Given the description of an element on the screen output the (x, y) to click on. 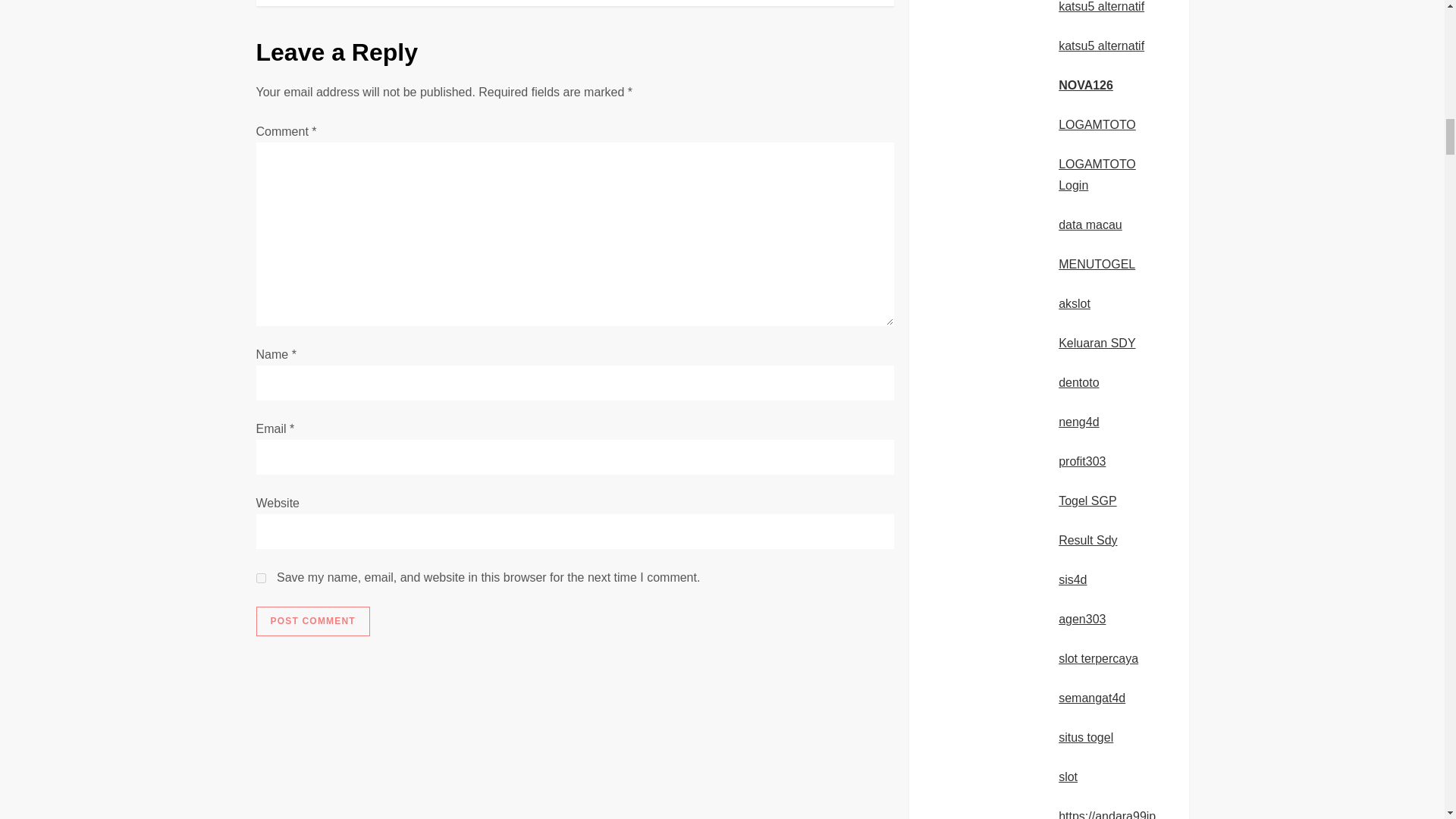
yes (261, 578)
Post Comment (312, 621)
Post Comment (312, 621)
